Given the description of an element on the screen output the (x, y) to click on. 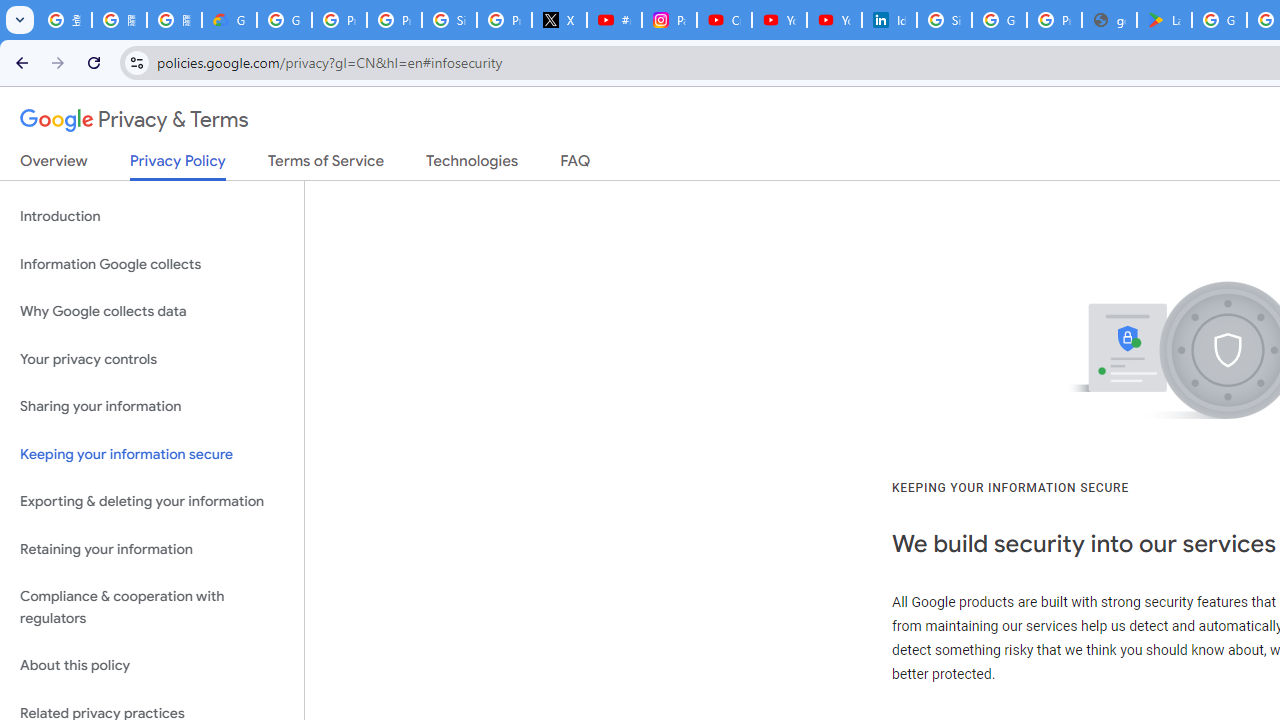
Last Shelter: Survival - Apps on Google Play (1163, 20)
Your privacy controls (152, 358)
Sign in - Google Accounts (449, 20)
Why Google collects data (152, 312)
